Given the description of an element on the screen output the (x, y) to click on. 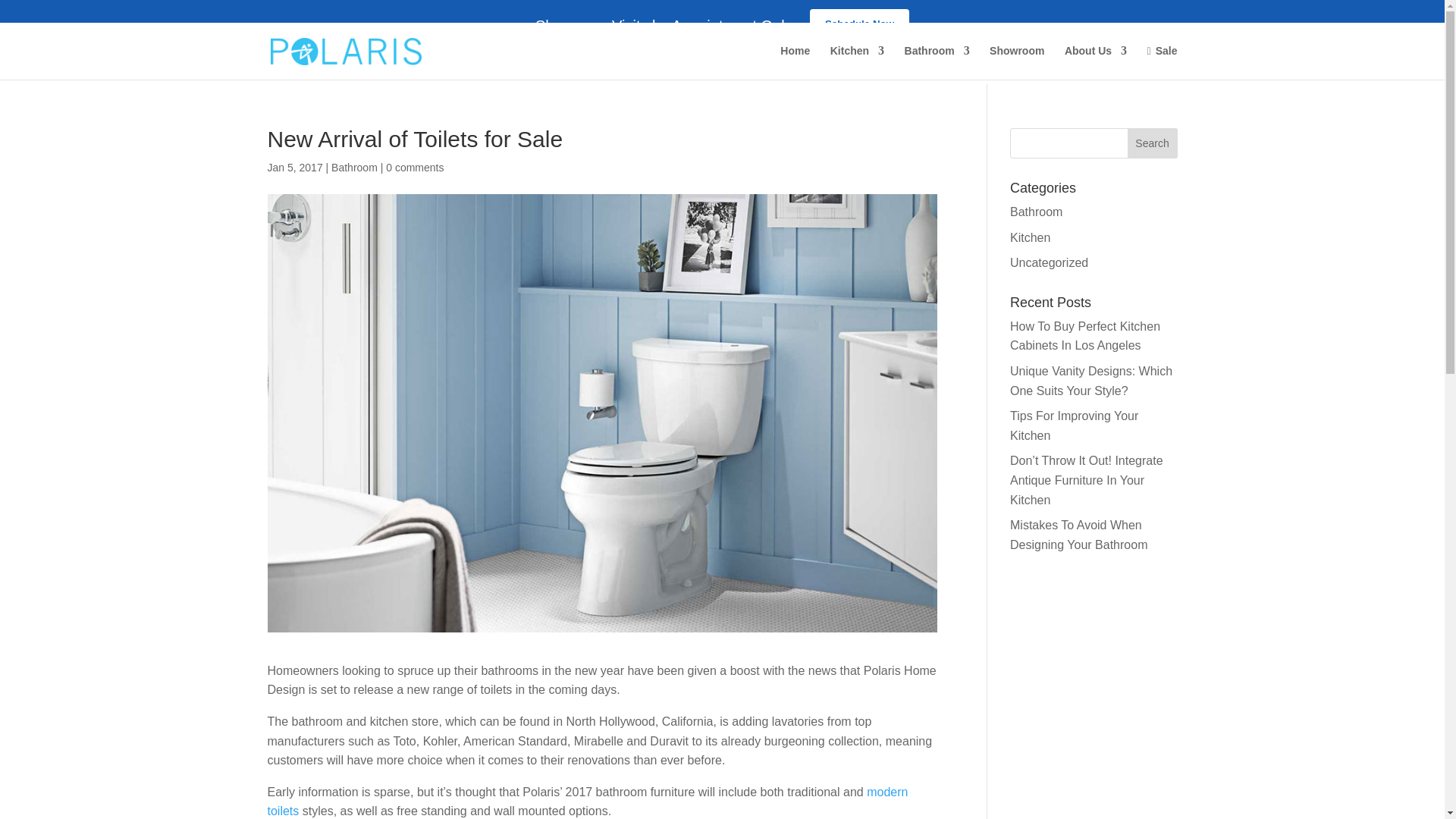
Search (1151, 142)
Tips For Improving Your Kitchen (1074, 425)
Uncategorized (1048, 262)
Bathroom (1036, 211)
About Us (1095, 61)
Showroom (1016, 61)
Bathroom (354, 167)
modern toilets (586, 801)
Bathroom (936, 61)
Kitchen (1029, 237)
